Given the description of an element on the screen output the (x, y) to click on. 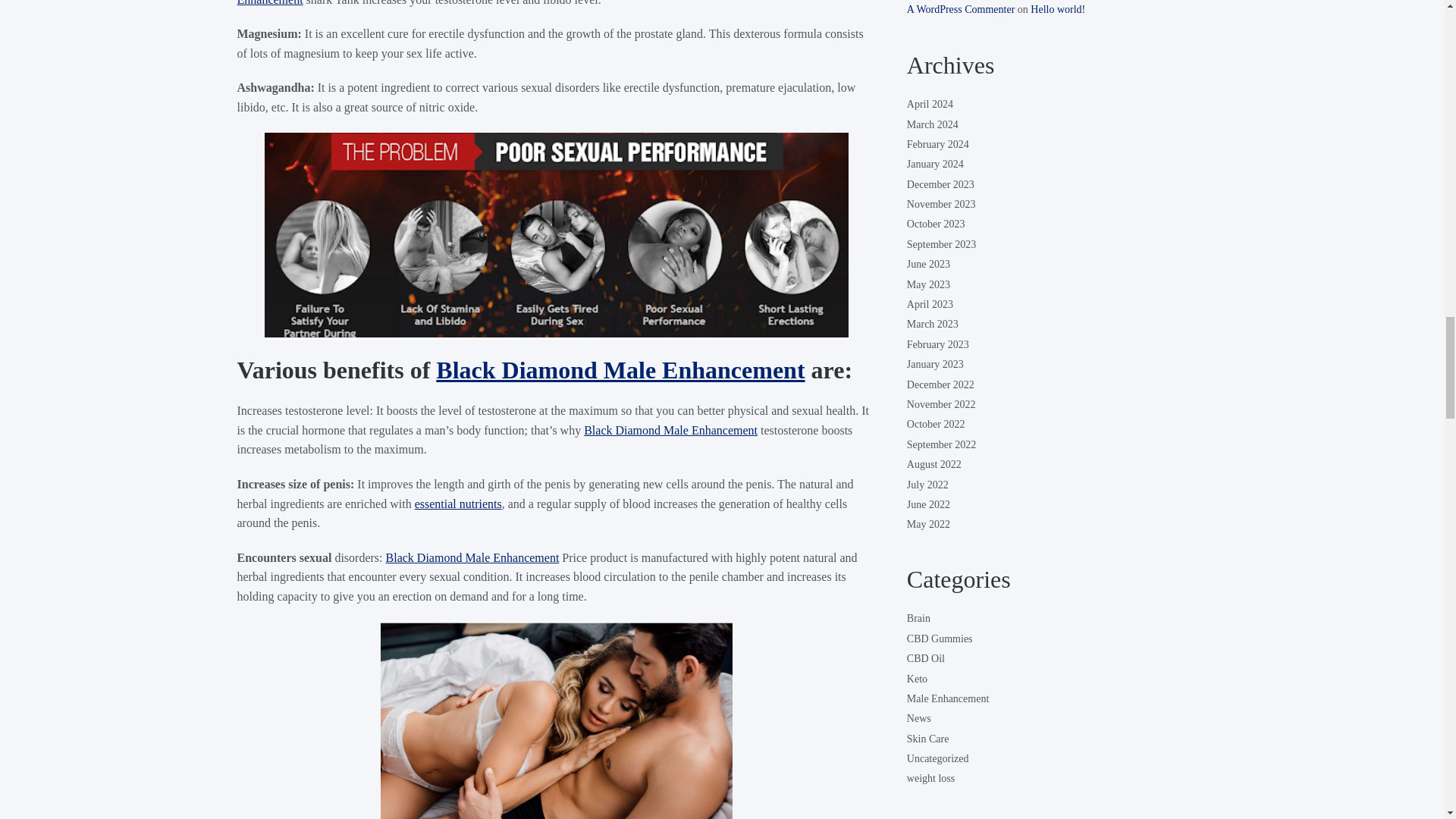
Black Diamond Male Enhancement (620, 370)
